Given the description of an element on the screen output the (x, y) to click on. 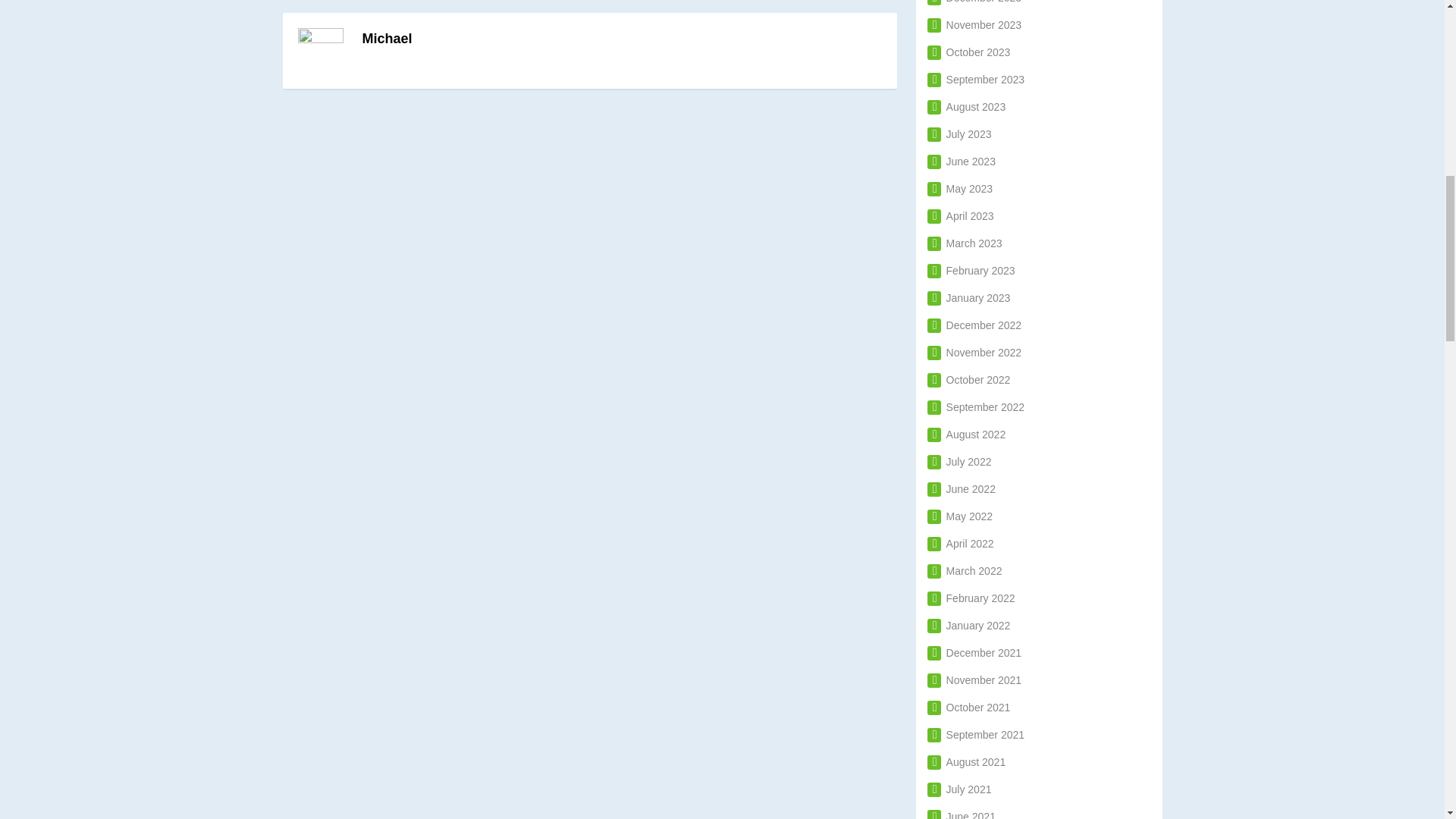
December 2023 (974, 2)
September 2023 (976, 79)
August 2023 (966, 106)
November 2023 (974, 24)
October 2023 (968, 51)
June 2023 (961, 161)
May 2023 (959, 188)
April 2023 (960, 215)
Michael (387, 38)
July 2023 (959, 133)
